Given the description of an element on the screen output the (x, y) to click on. 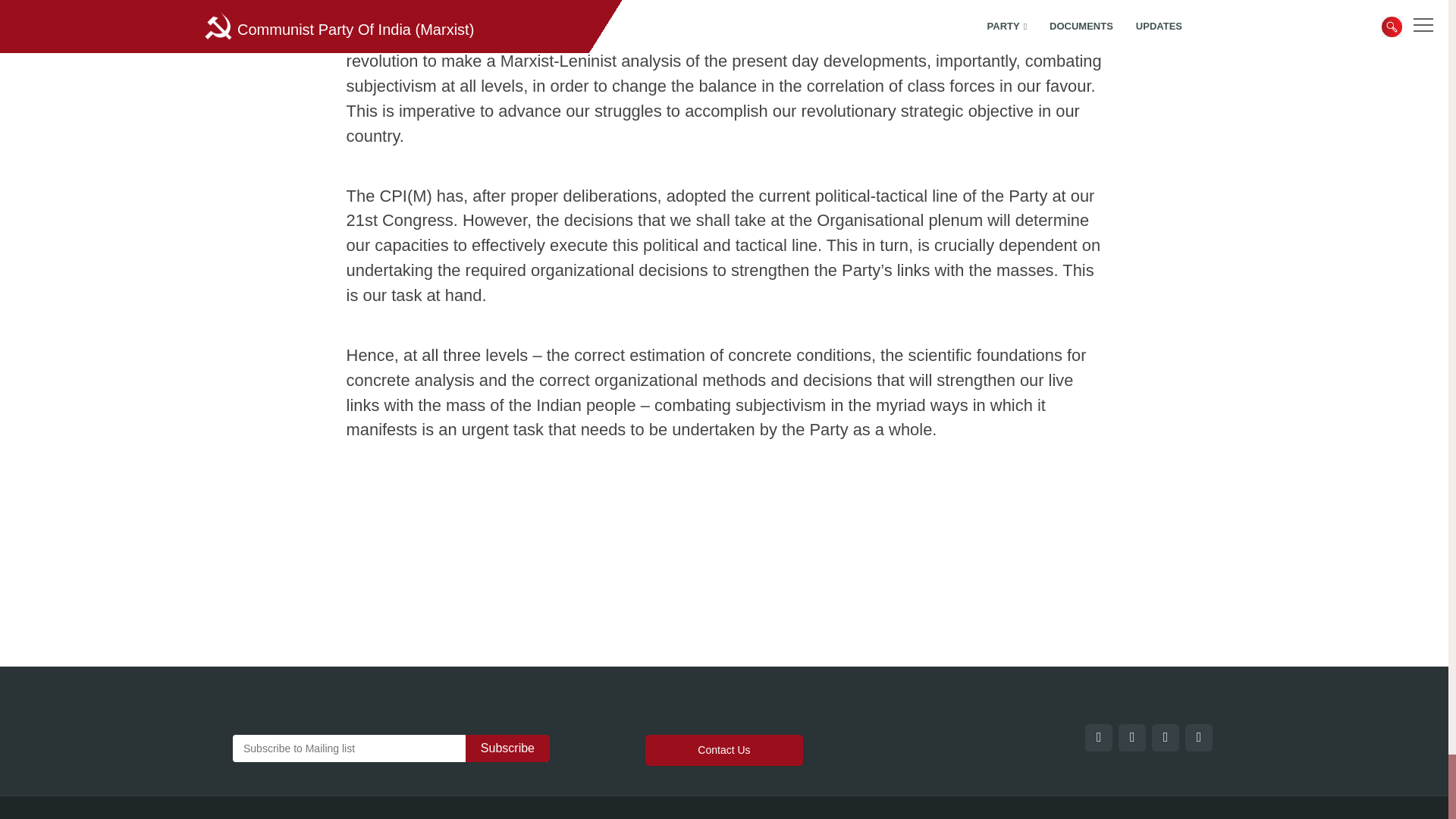
Subscribe (507, 748)
Subscribe (507, 748)
Contact Us (723, 749)
